Given the description of an element on the screen output the (x, y) to click on. 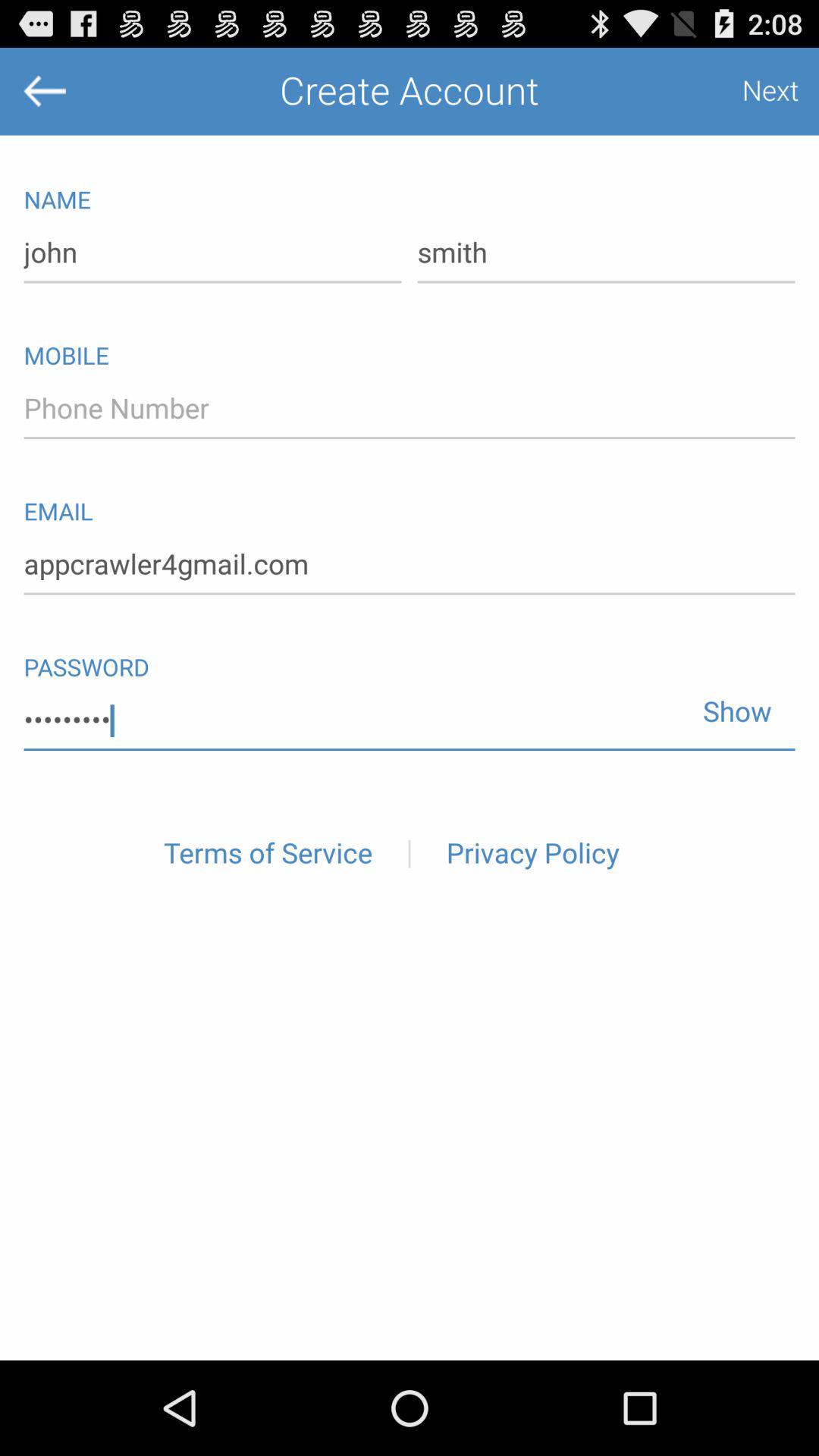
press the icon below name item (606, 253)
